Given the description of an element on the screen output the (x, y) to click on. 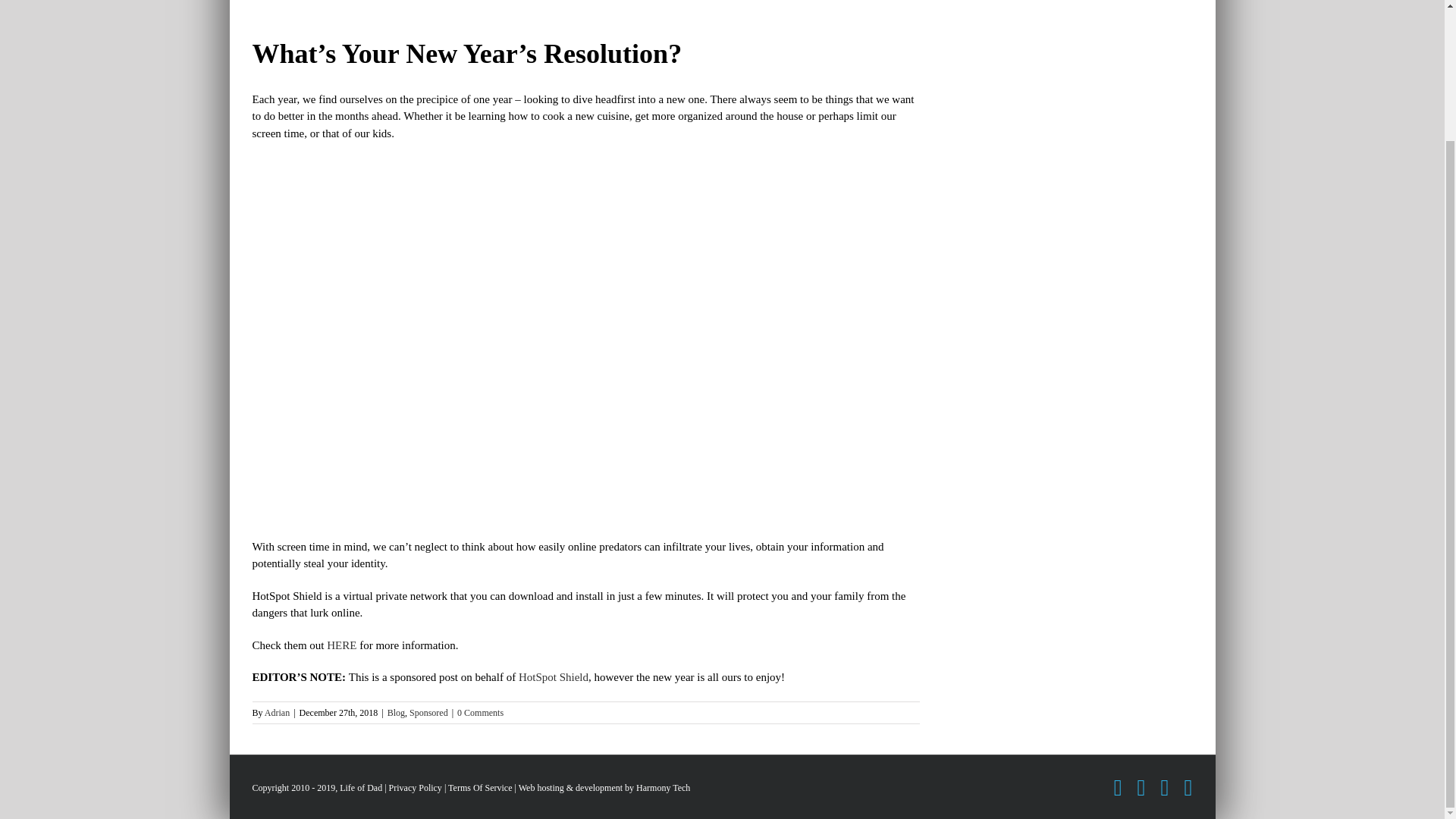
HotSpot Shield (553, 676)
Sponsored (428, 712)
Harmony Tech (663, 787)
Privacy Policy (415, 787)
Posts by Adrian (276, 712)
Adrian (276, 712)
Blog (395, 712)
HERE (341, 645)
Terms Of Service (480, 787)
0 Comments (480, 712)
